Given the description of an element on the screen output the (x, y) to click on. 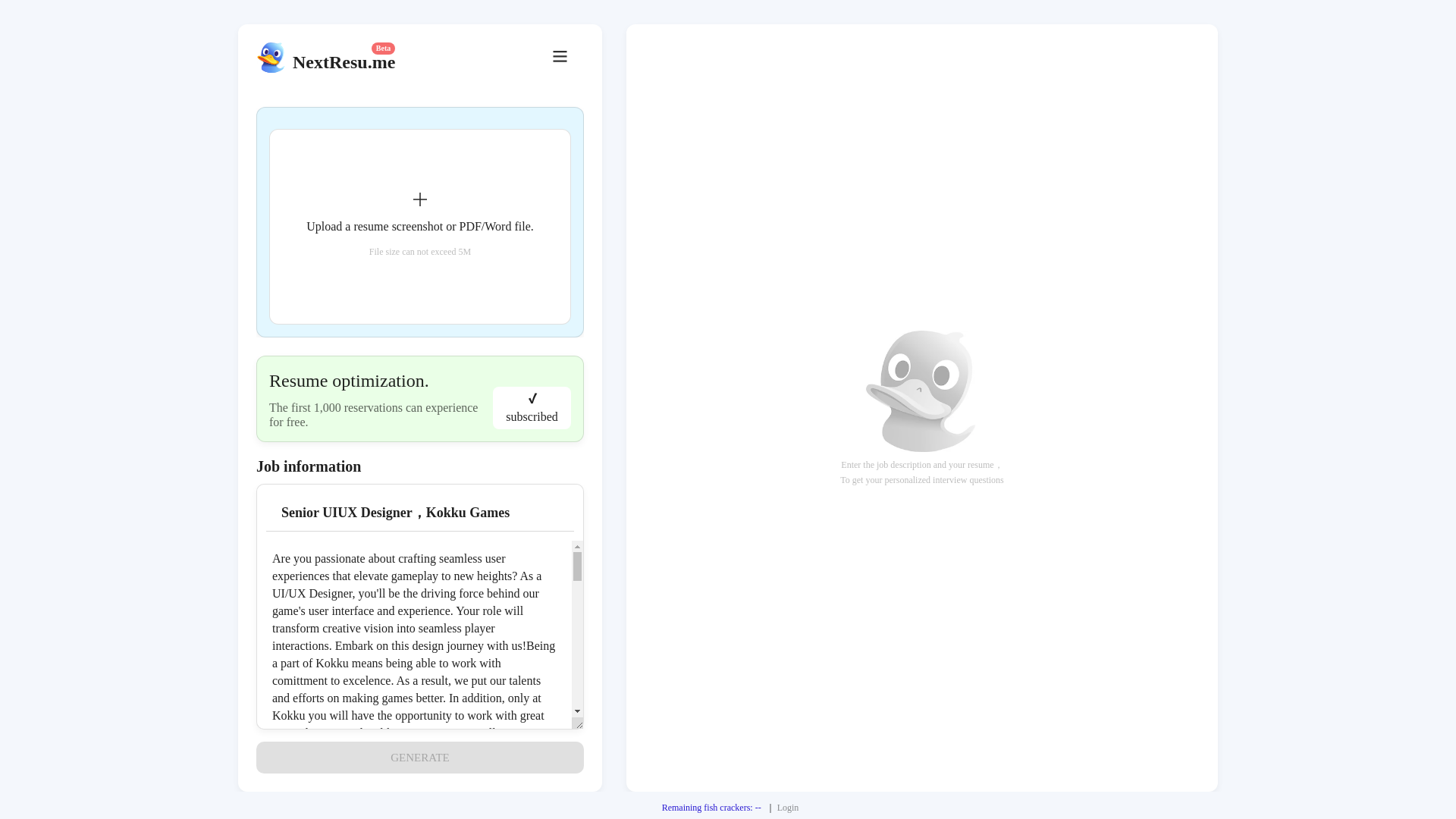
Remaining fish crackers: -- (711, 807)
Login (788, 807)
GENERATE (419, 757)
